Given the description of an element on the screen output the (x, y) to click on. 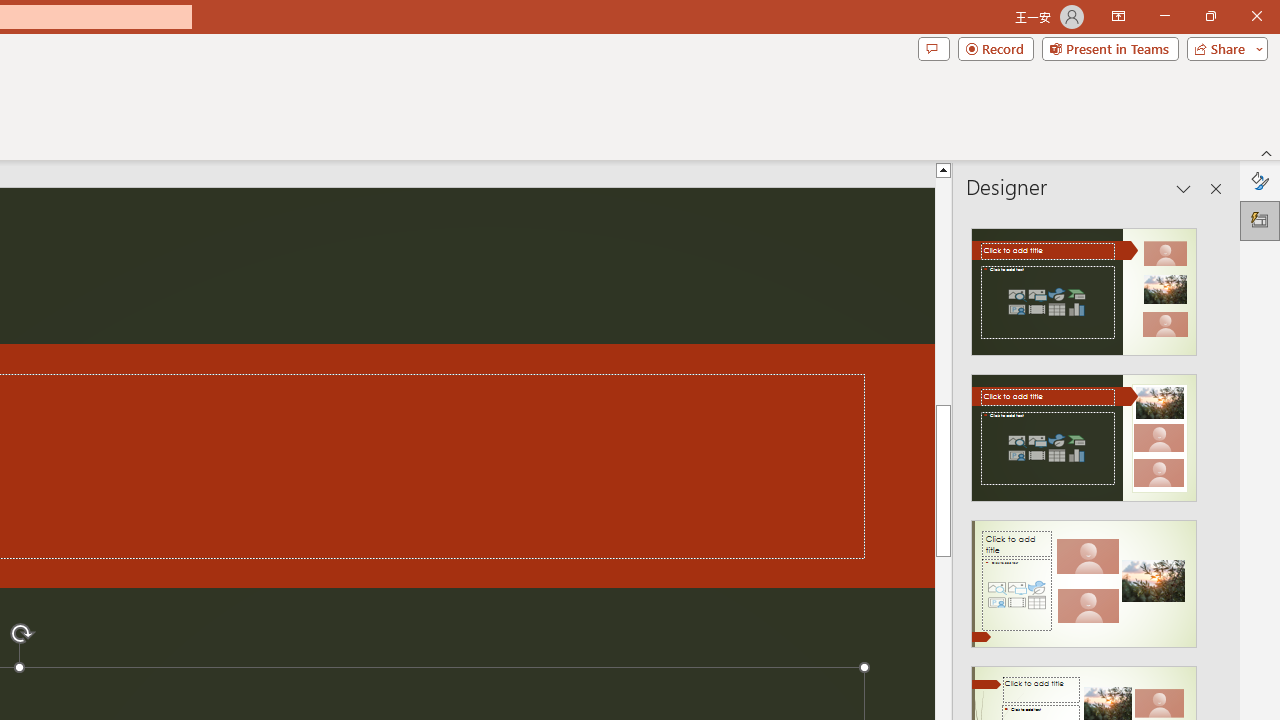
Design Idea (1083, 577)
